Given the description of an element on the screen output the (x, y) to click on. 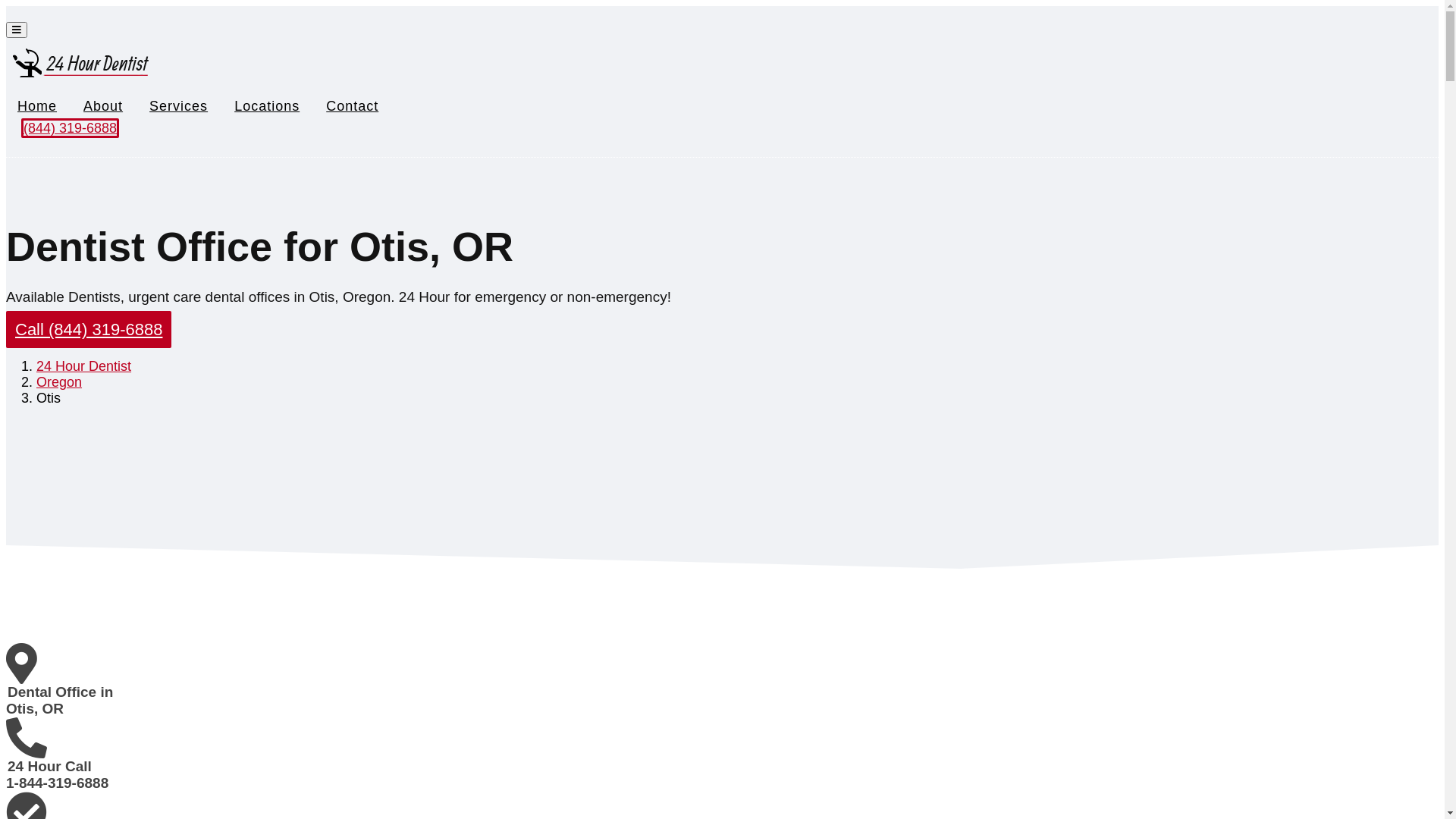
Oregon Element type: text (58, 381)
Locations Element type: text (266, 106)
Home Element type: text (37, 106)
Services Element type: text (178, 106)
Call (844) 319-6888 Element type: text (88, 329)
Contact Element type: text (351, 106)
24 Hour Dentist Element type: text (83, 365)
About Element type: text (103, 106)
(844) 319-6888 Element type: text (70, 128)
